Given the description of an element on the screen output the (x, y) to click on. 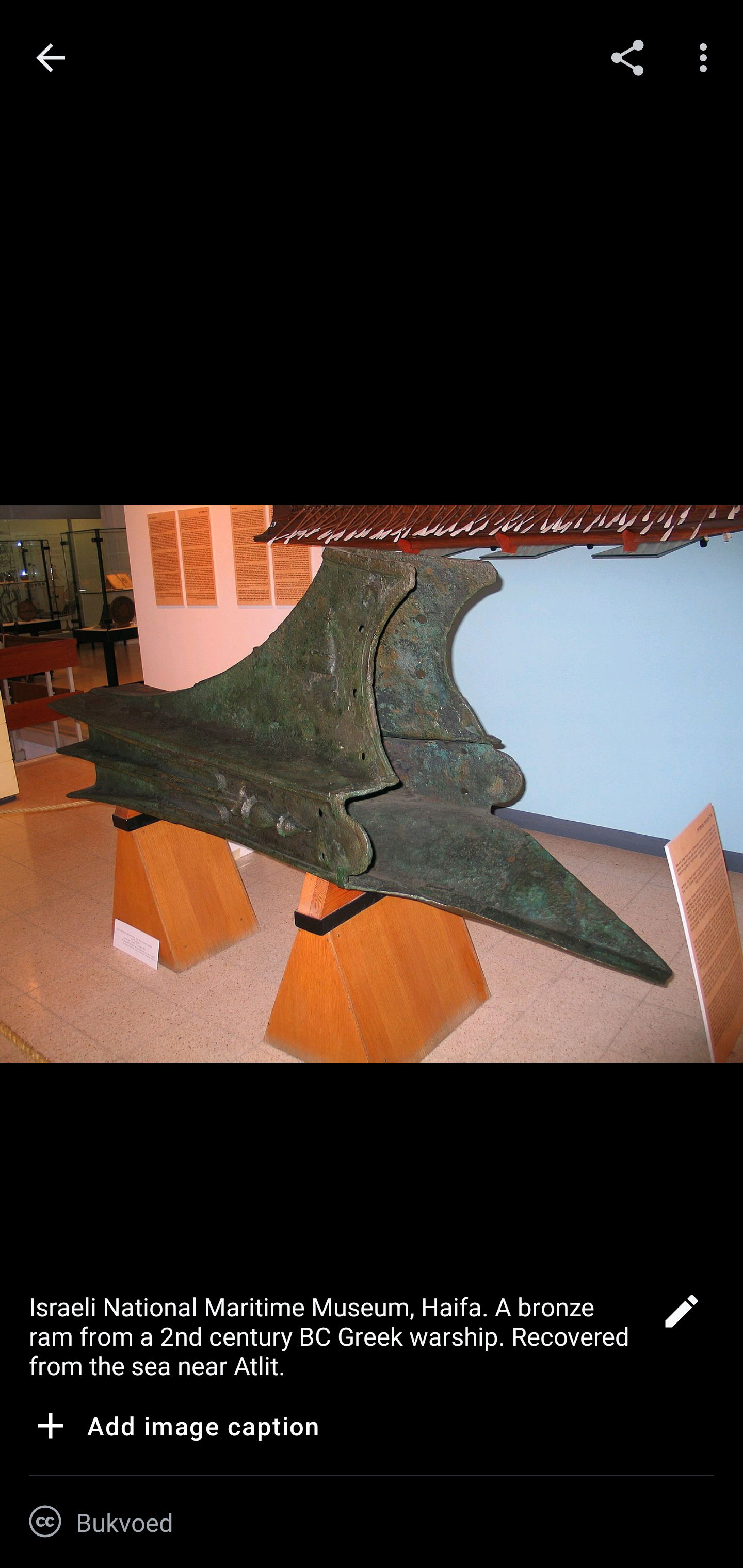
Navigate up (50, 57)
Share (626, 57)
More options (706, 57)
Edit image caption (681, 1315)
Add image caption (174, 1428)
CC BY 3.0 (44, 1521)
